Given the description of an element on the screen output the (x, y) to click on. 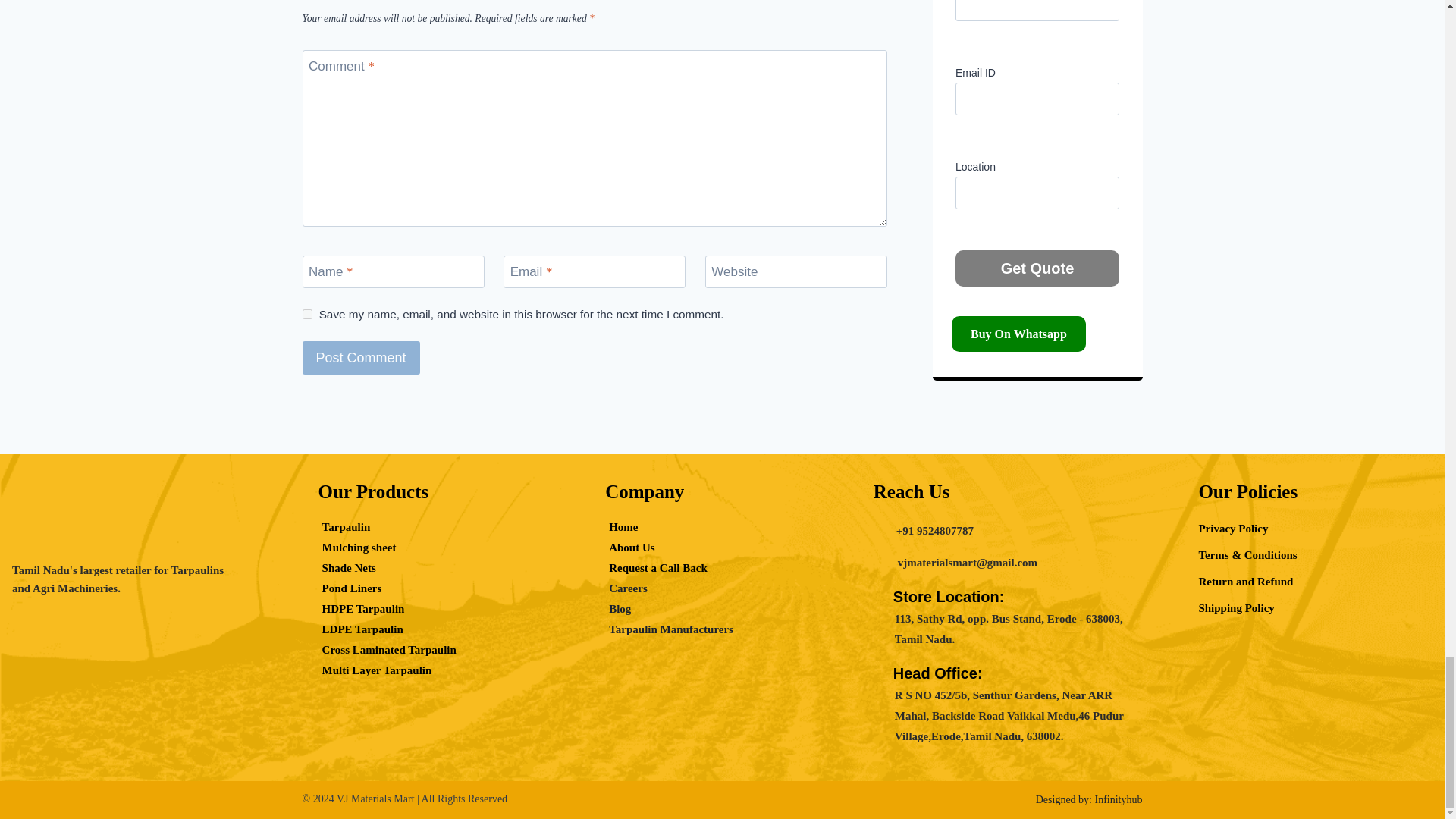
Post Comment (360, 357)
High Quality Tarpaulins (127, 524)
yes (306, 314)
